Given the description of an element on the screen output the (x, y) to click on. 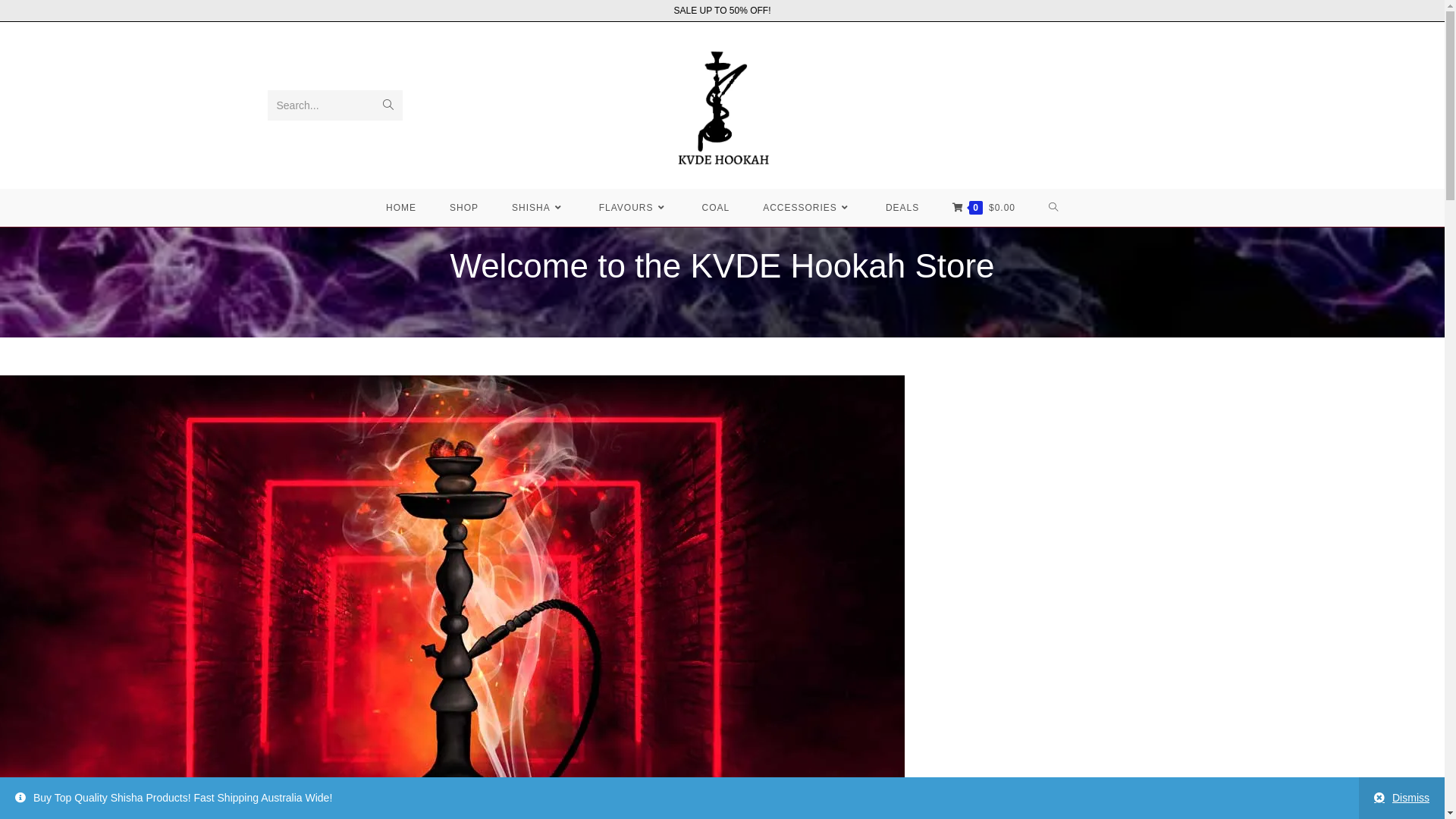
Submit search Element type: text (387, 105)
0$0.00 Element type: text (983, 207)
SHOP Element type: text (464, 207)
DEALS Element type: text (902, 207)
TOGGLE WEBSITE SEARCH Element type: text (1053, 207)
COAL Element type: text (715, 207)
SHISHA Element type: text (538, 207)
ACCESSORIES Element type: text (807, 207)
FLAVOURS Element type: text (633, 207)
HOME Element type: text (401, 207)
